Given the description of an element on the screen output the (x, y) to click on. 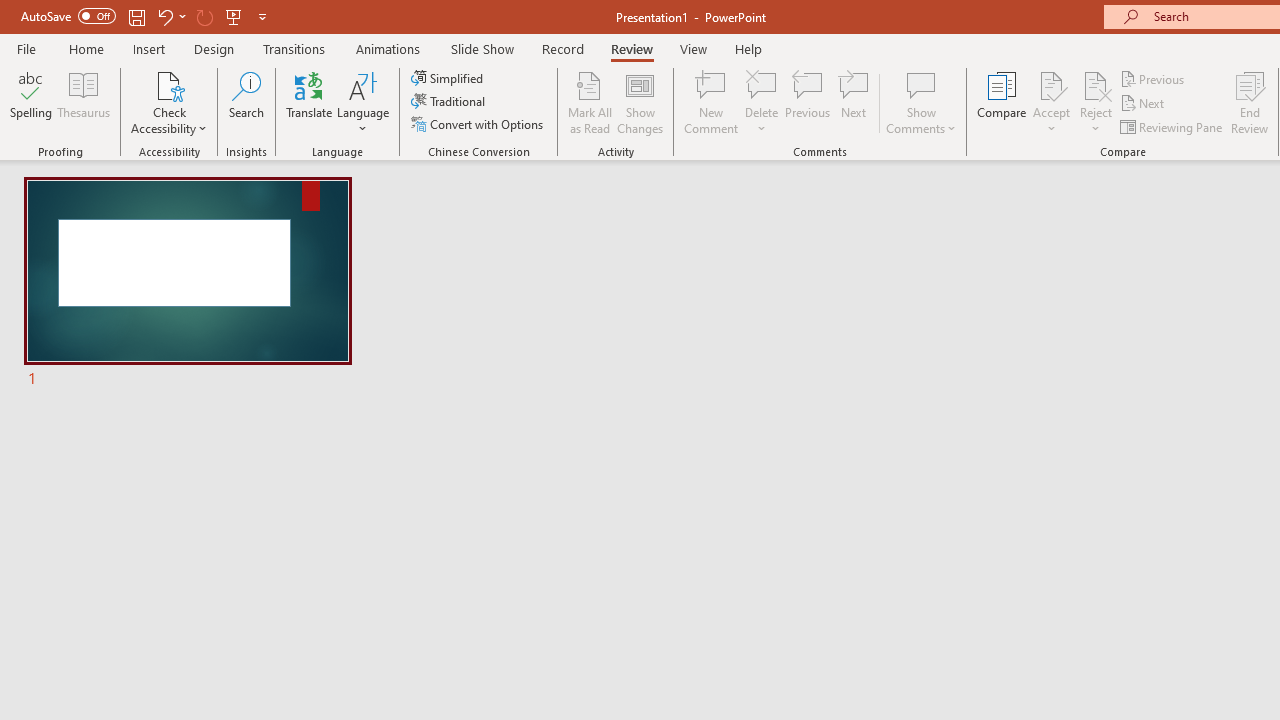
Mark All as Read (589, 102)
Slide (187, 284)
New Comment (711, 102)
Simplified (449, 78)
Delete (762, 84)
Traditional (449, 101)
